Given the description of an element on the screen output the (x, y) to click on. 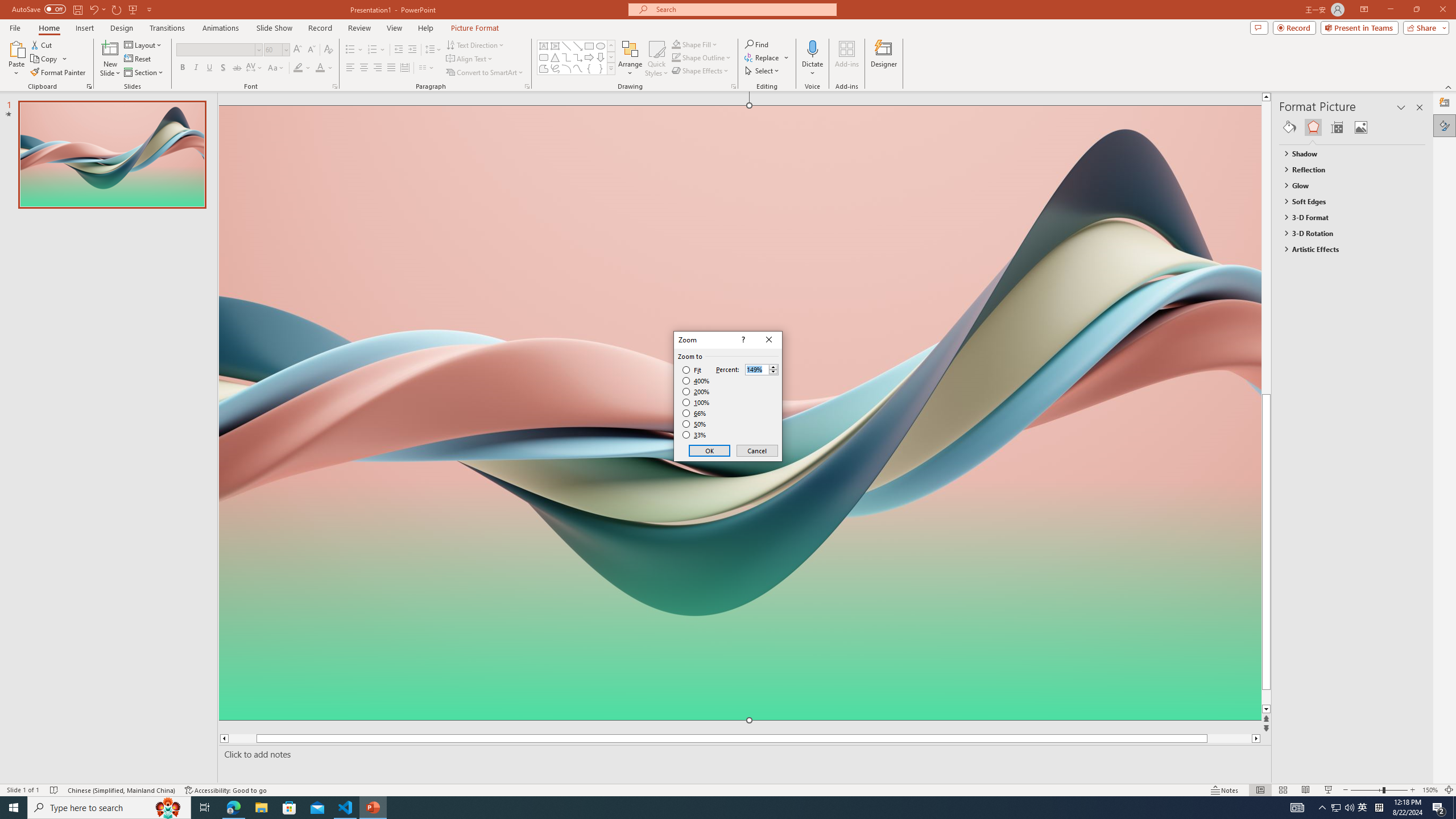
Font Color Red (1362, 807)
Arrow: Down (320, 67)
Shape Fill (600, 57)
100% (694, 44)
Shape Outline (696, 402)
Picture (701, 56)
Size & Properties (1361, 126)
Office Clipboard... (1336, 126)
